Given the description of an element on the screen output the (x, y) to click on. 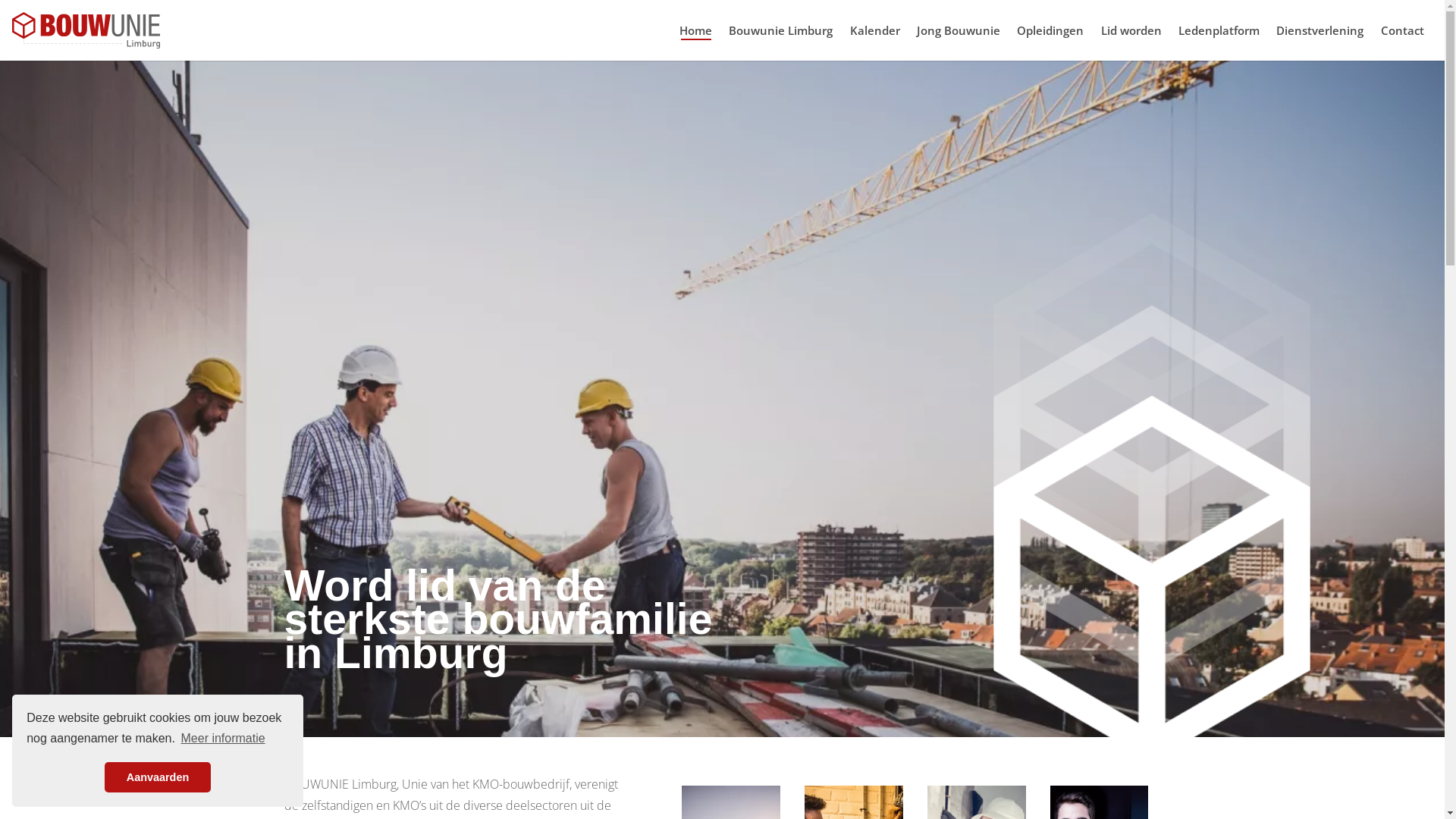
Dienstverlening Element type: text (1319, 29)
Home Element type: text (695, 29)
Bouwunie Limburg Element type: text (90, 30)
Aanvaarden Element type: text (157, 777)
Opleidingen Element type: text (1050, 29)
Kalender Element type: text (873, 29)
Lid worden Element type: text (1130, 29)
Bouwunie Limburg Element type: text (780, 29)
Contact Element type: text (1402, 29)
Ledenplatform Element type: text (1218, 29)
Meer informatie Element type: text (222, 738)
Jong Bouwunie Element type: text (958, 29)
